Given the description of an element on the screen output the (x, y) to click on. 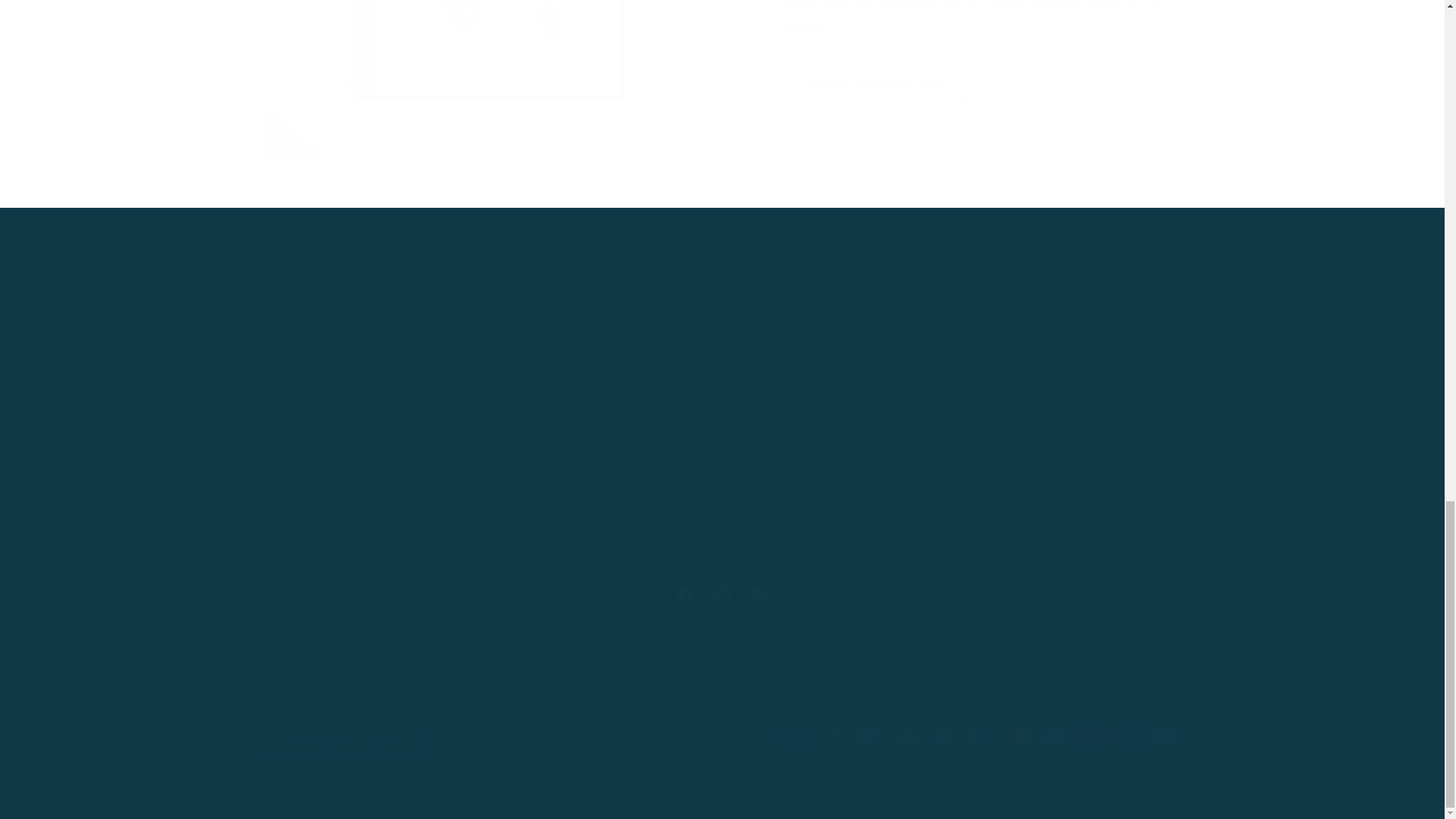
Sophie Wright Designs (348, 799)
Instagram (721, 594)
Shipping policy (775, 799)
Refund policy (721, 594)
Contact information (532, 799)
Powered by Shopify (869, 799)
Facebook (443, 799)
Privacy policy (684, 594)
Browse my online shop (609, 799)
Terms of service (873, 82)
Pinterest (691, 799)
